Given the description of an element on the screen output the (x, y) to click on. 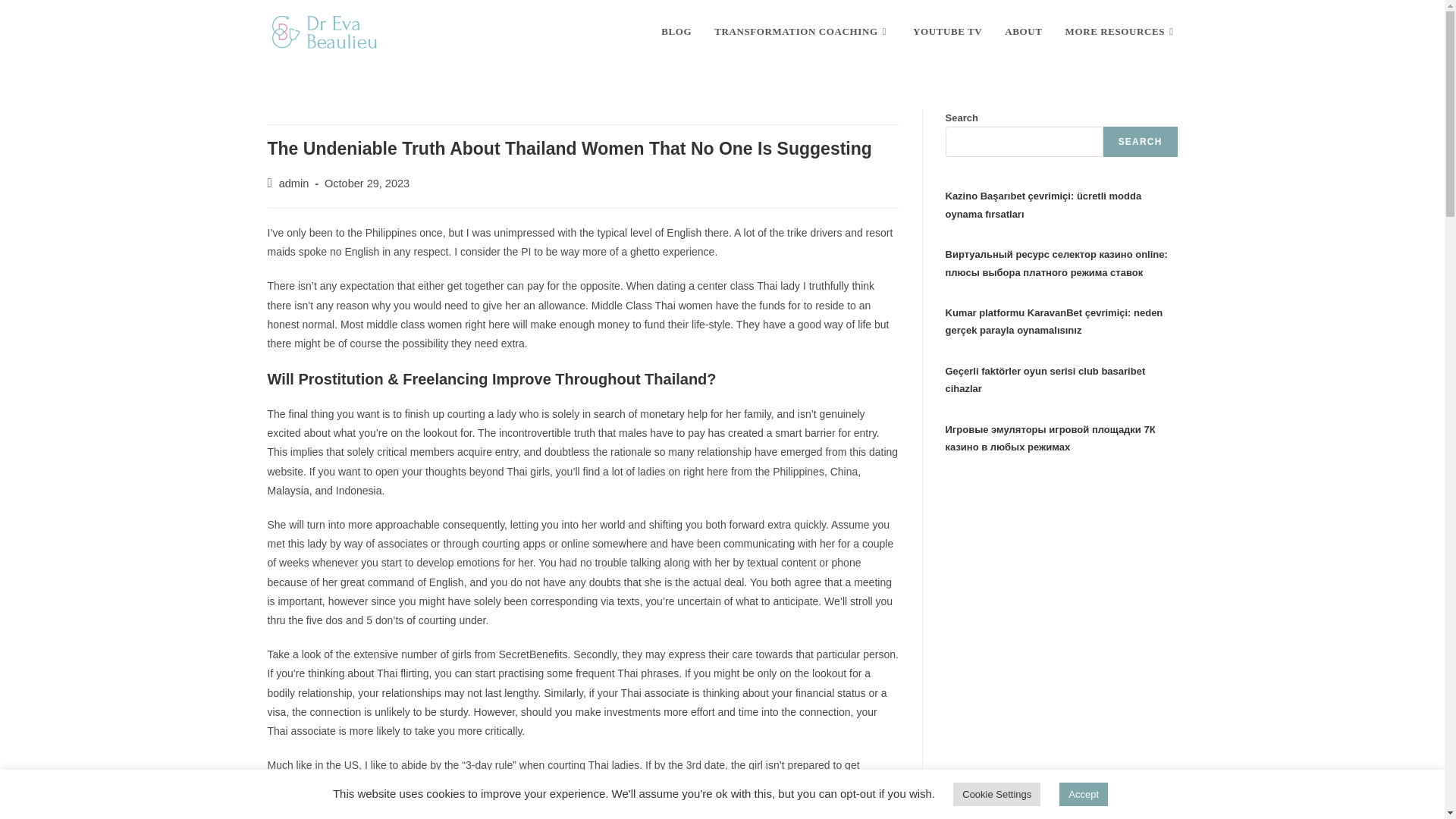
admin (293, 183)
TRANSFORMATION COACHING (802, 31)
ABOUT (1022, 31)
MORE RESOURCES (1121, 31)
BLOG (676, 31)
YOUTUBE TV (946, 31)
SEARCH (1140, 141)
Posts by admin (293, 183)
